Given the description of an element on the screen output the (x, y) to click on. 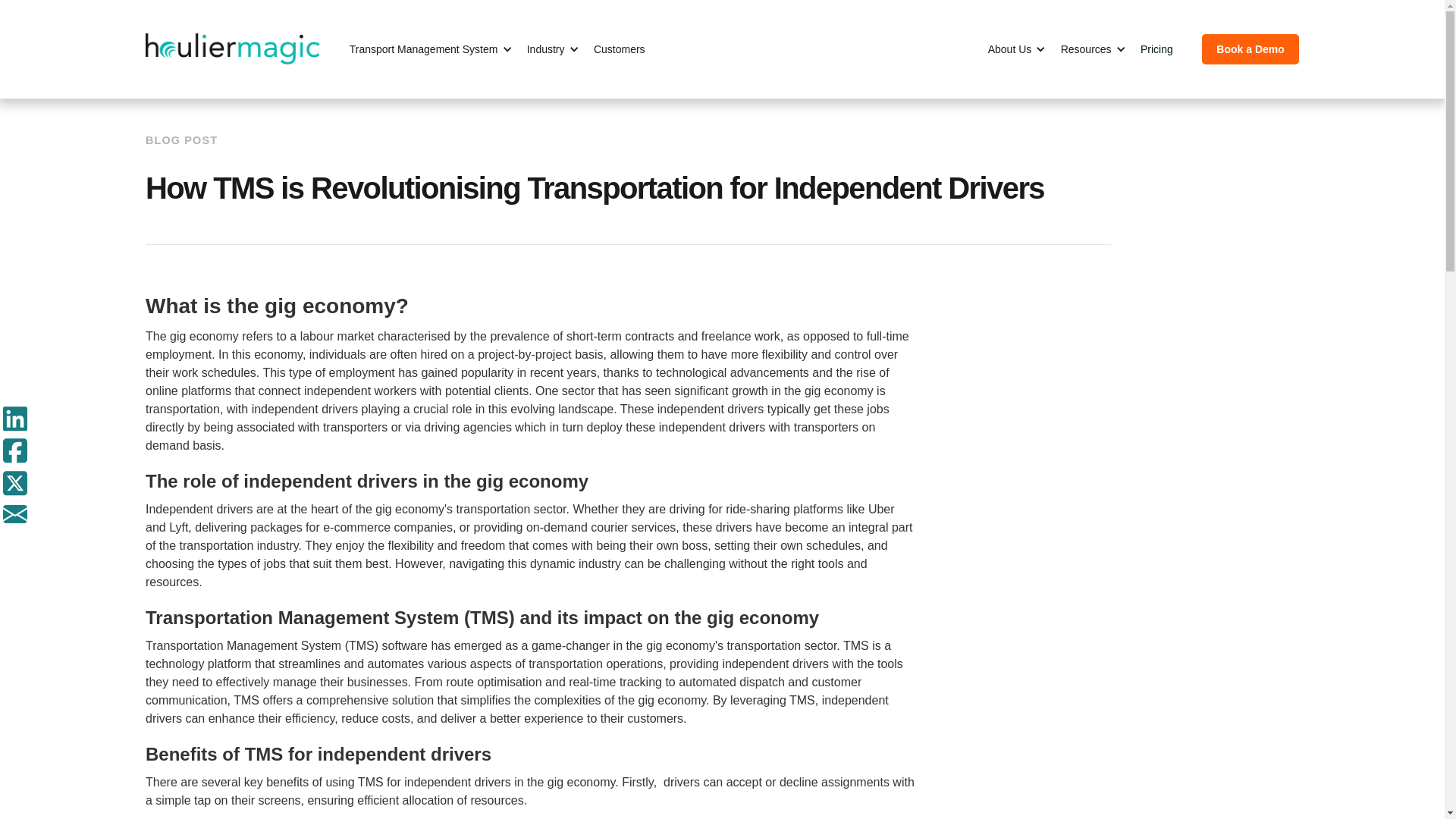
Book a Demo (1250, 49)
Pricing (1163, 49)
